Given the description of an element on the screen output the (x, y) to click on. 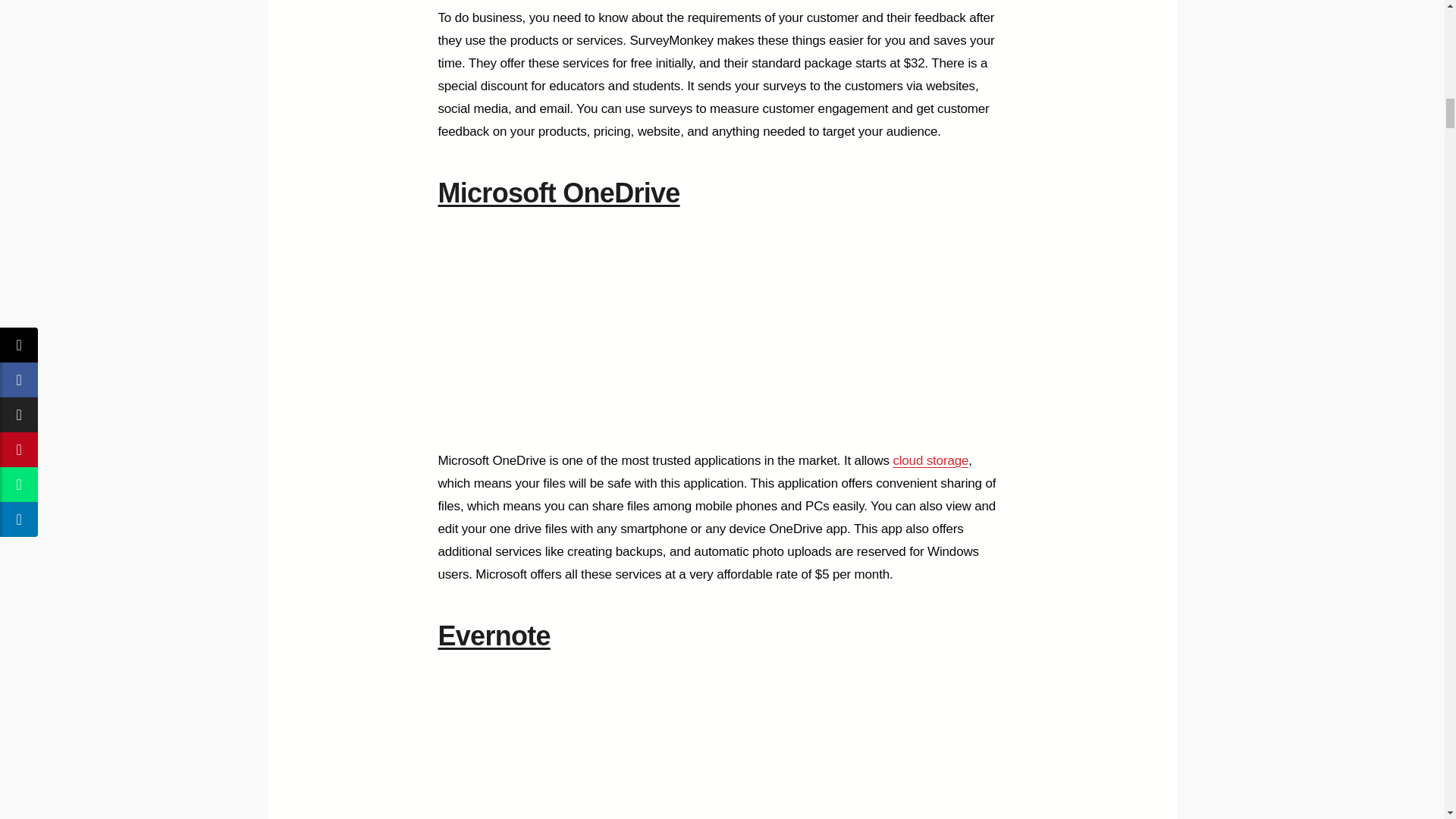
Best Cloud Storage Lifetime Deals in 2023 (930, 460)
Evernote (494, 635)
Microsoft OneDrive (558, 192)
cloud storage (930, 460)
